Given the description of an element on the screen output the (x, y) to click on. 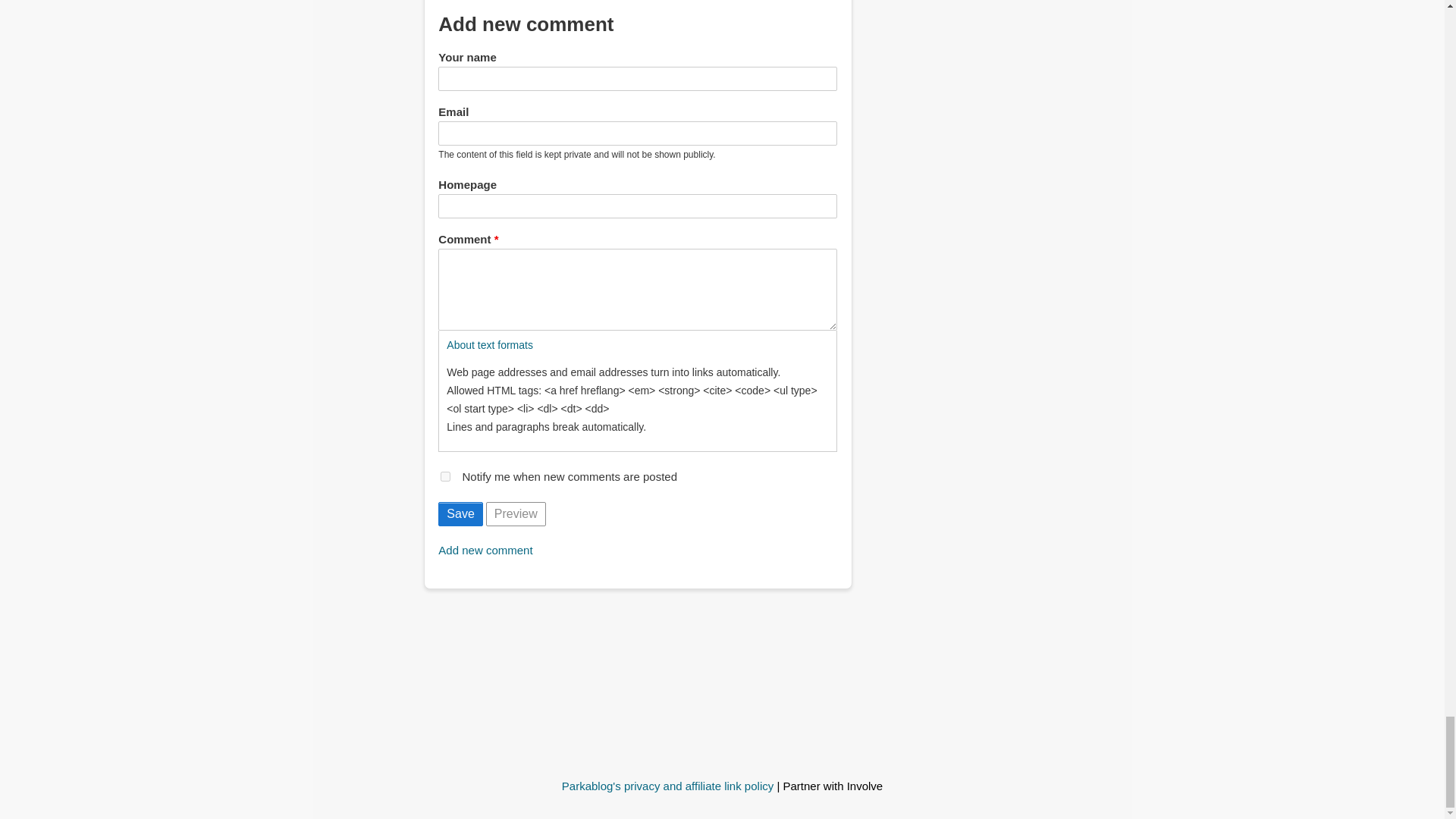
1 (445, 476)
Preview (516, 514)
Save (459, 514)
